Given the description of an element on the screen output the (x, y) to click on. 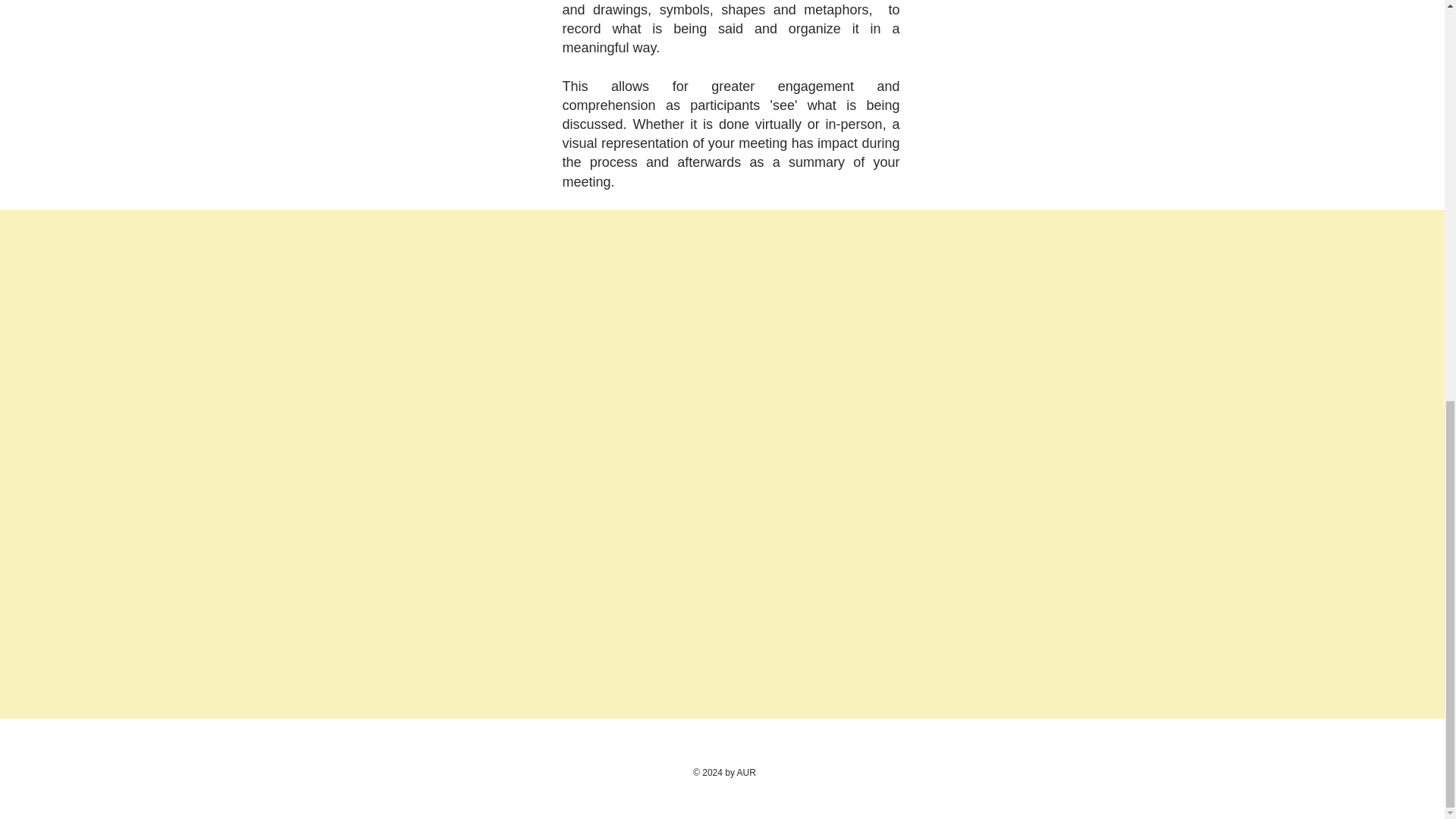
AUR (745, 772)
